Given the description of an element on the screen output the (x, y) to click on. 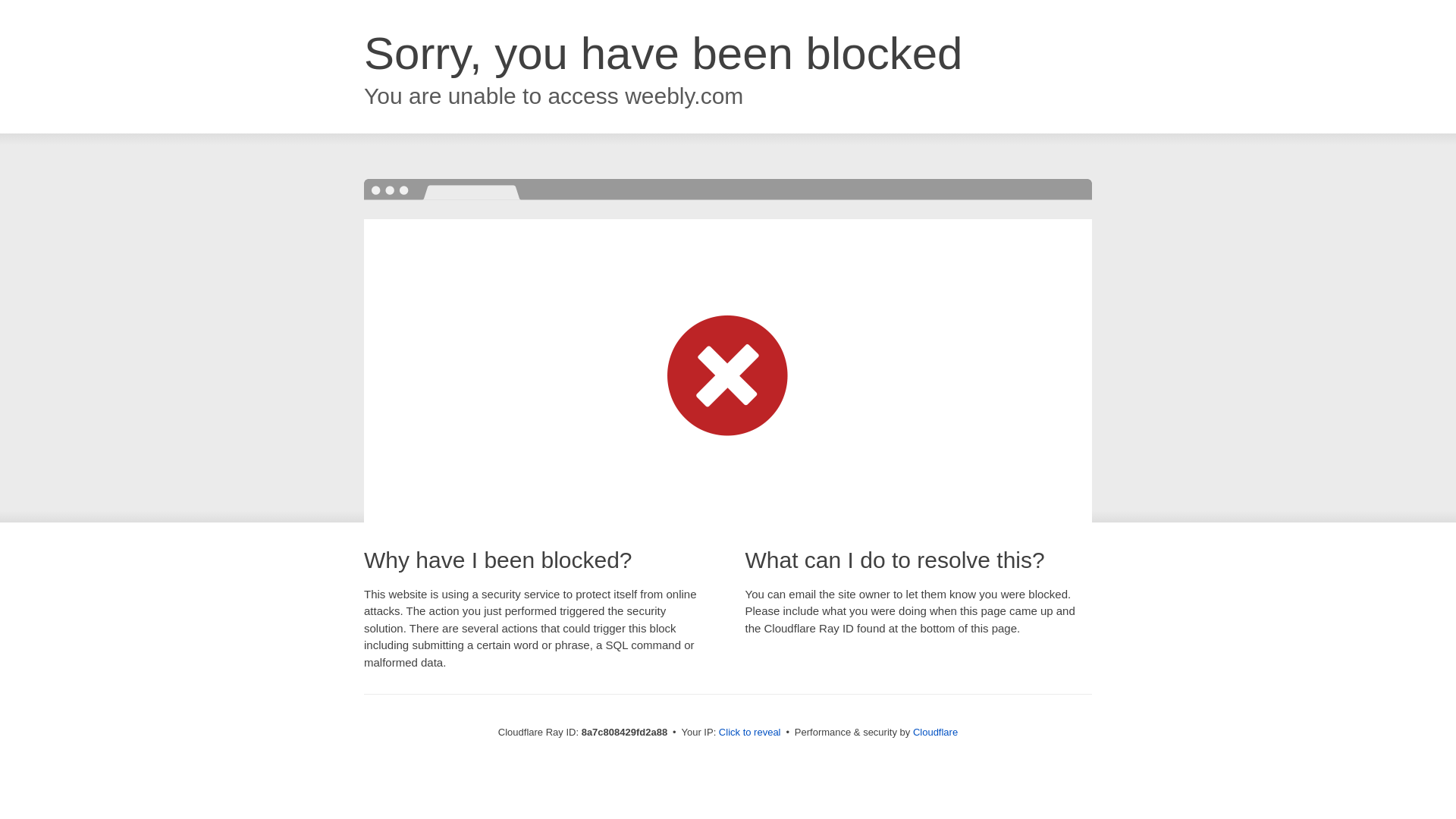
Click to reveal (749, 732)
Cloudflare (935, 731)
